Given the description of an element on the screen output the (x, y) to click on. 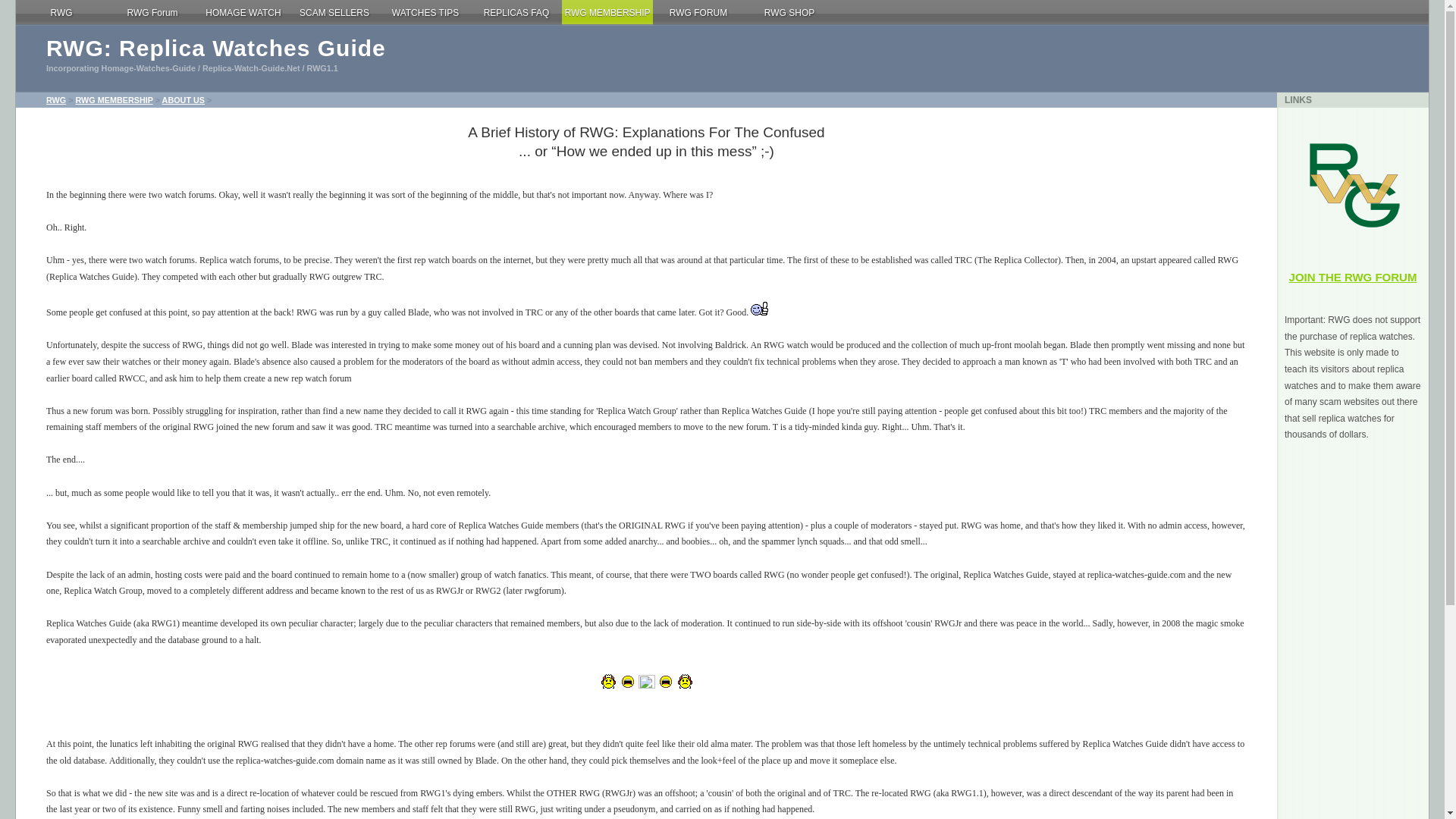
JOIN THE RWG FORUM Element type: text (1353, 276)
REPLICAS FAQ Element type: text (515, 12)
HOMAGE WATCH Element type: text (242, 12)
RWG MEMBERSHIP Element type: text (606, 12)
RWG Forum Element type: text (151, 12)
RWG Element type: text (55, 99)
RWG FORUM Element type: text (697, 12)
ABOUT US Element type: text (183, 99)
RWG MEMBERSHIP Element type: text (114, 99)
WATCHES TIPS Element type: text (424, 12)
RWG SHOP Element type: text (788, 12)
SCAM SELLERS Element type: text (333, 12)
RWG Element type: text (60, 12)
